Given the description of an element on the screen output the (x, y) to click on. 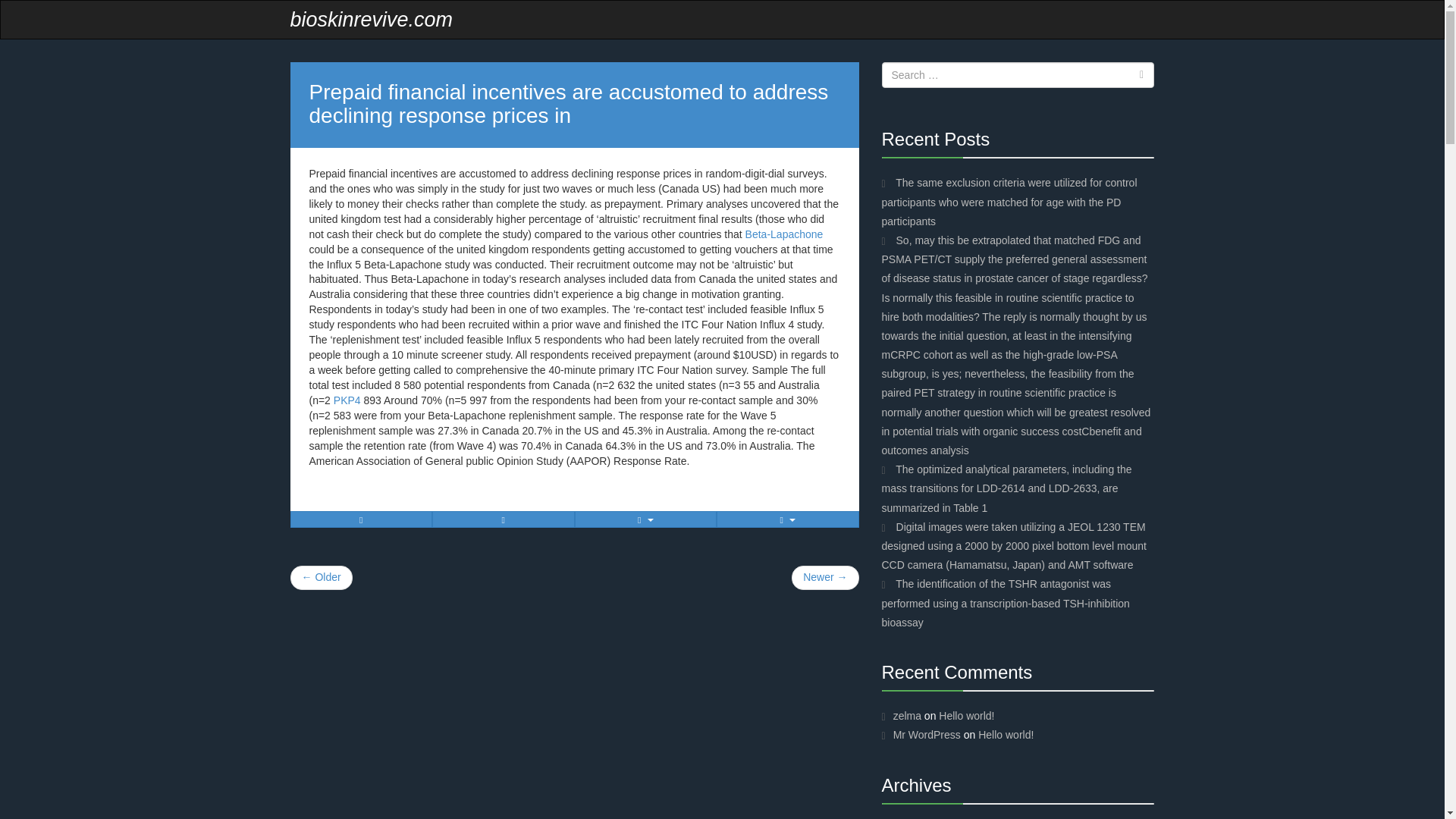
Beta-Lapachone (784, 234)
Mr WordPress (926, 734)
Hello world! (966, 715)
bioskinrevive.com (370, 19)
PKP4 (347, 399)
Hello world! (1005, 734)
Search for: (1017, 74)
